Given the description of an element on the screen output the (x, y) to click on. 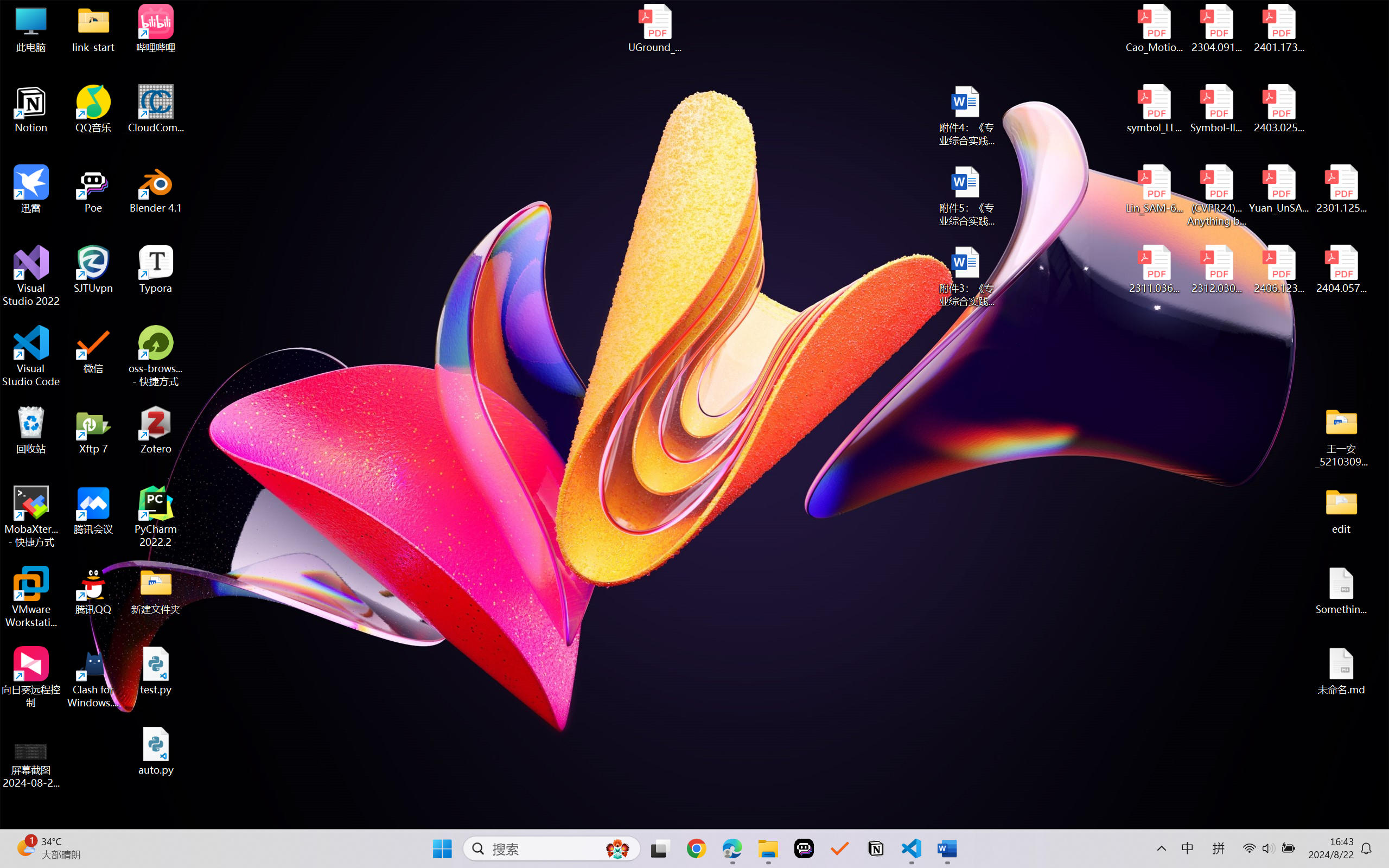
2301.12597v3.pdf (1340, 189)
Visual Studio Code (31, 355)
2304.09121v3.pdf (1216, 28)
Xftp 7 (93, 430)
Something.md (1340, 591)
edit (1340, 510)
